Given the description of an element on the screen output the (x, y) to click on. 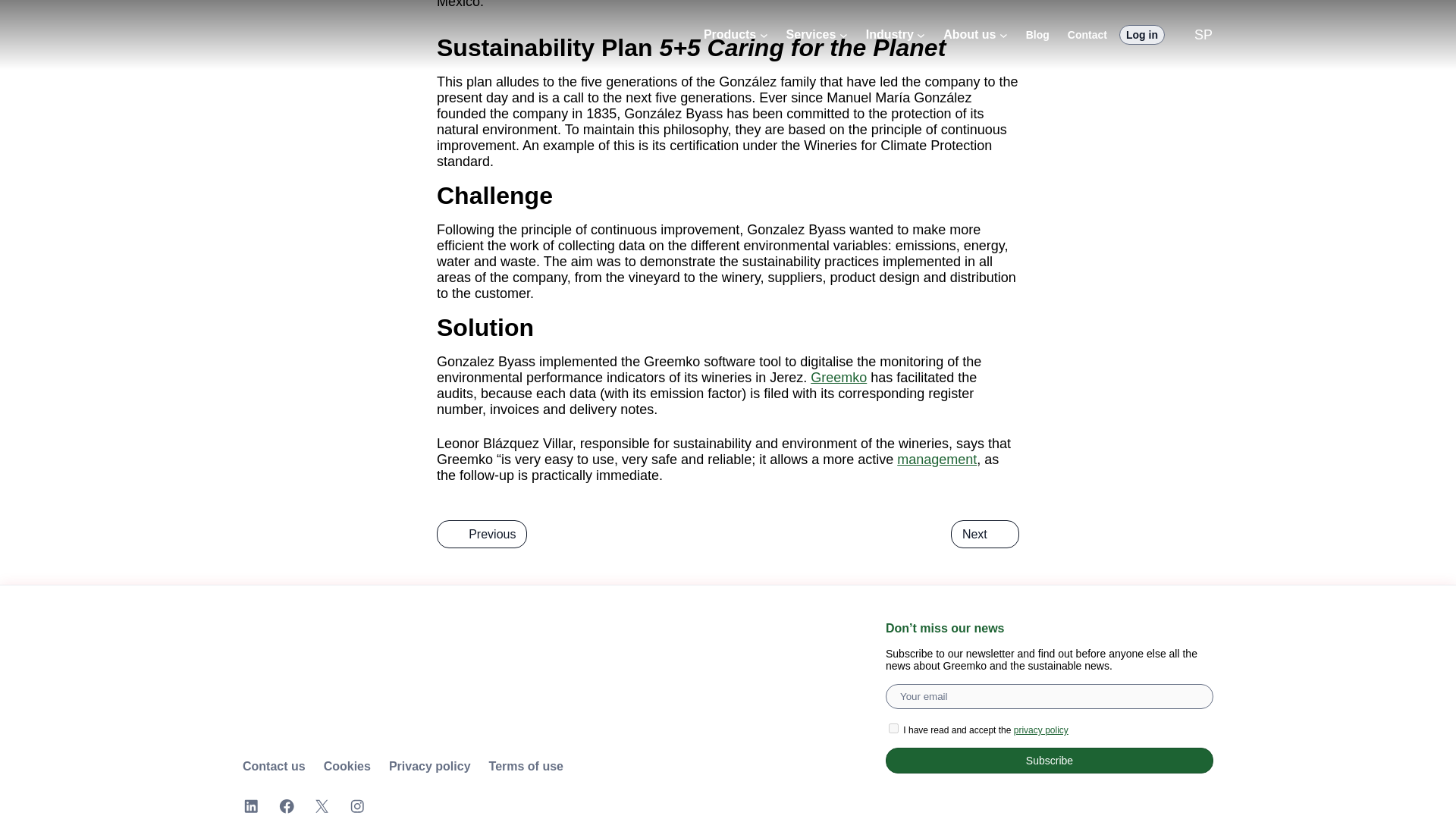
1 (893, 728)
Subscribe (1048, 760)
